Given the description of an element on the screen output the (x, y) to click on. 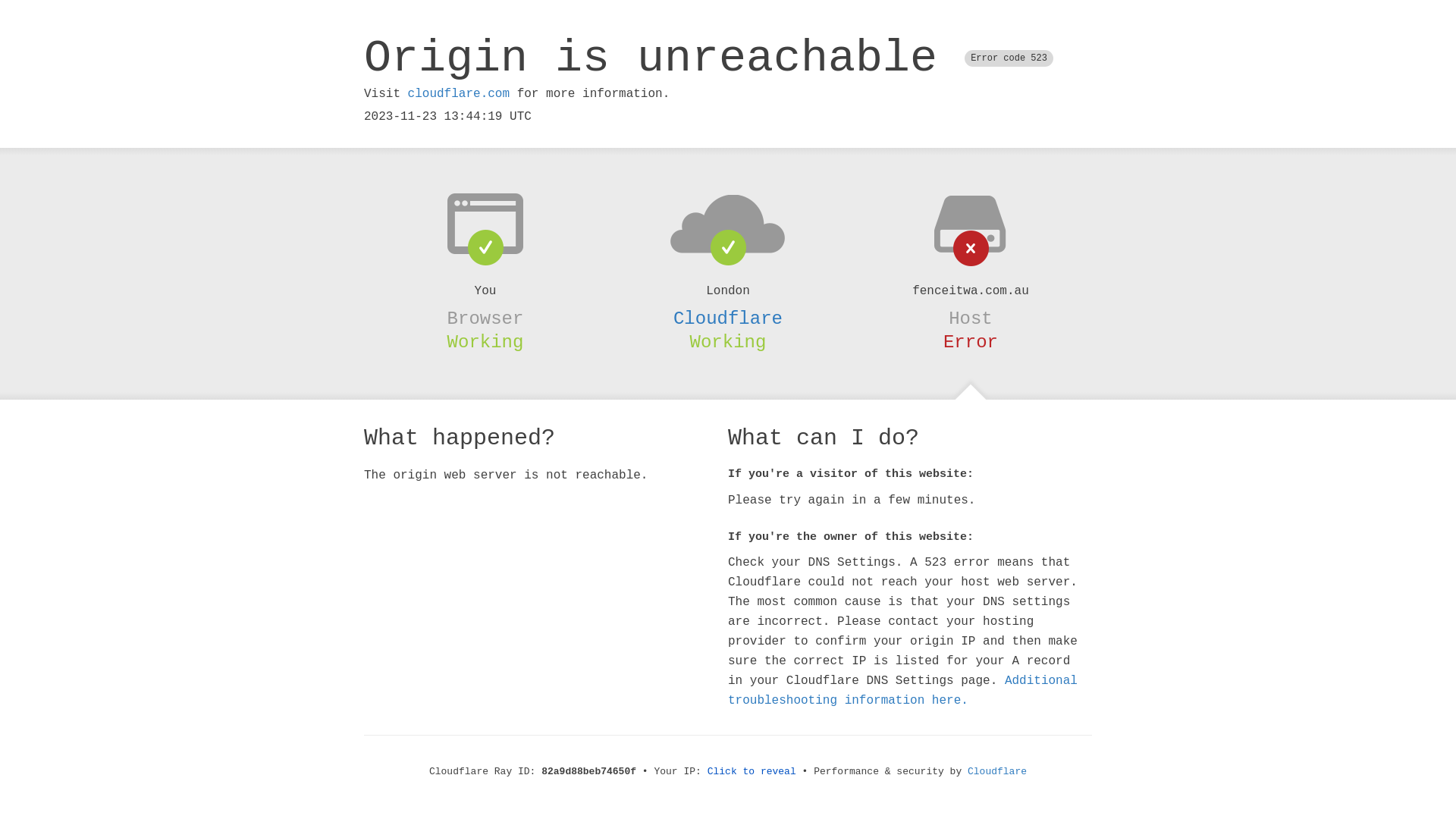
Click to reveal Element type: text (751, 771)
Cloudflare Element type: text (996, 771)
Additional troubleshooting information here. Element type: text (902, 690)
cloudflare.com Element type: text (458, 93)
Cloudflare Element type: text (727, 318)
